Given the description of an element on the screen output the (x, y) to click on. 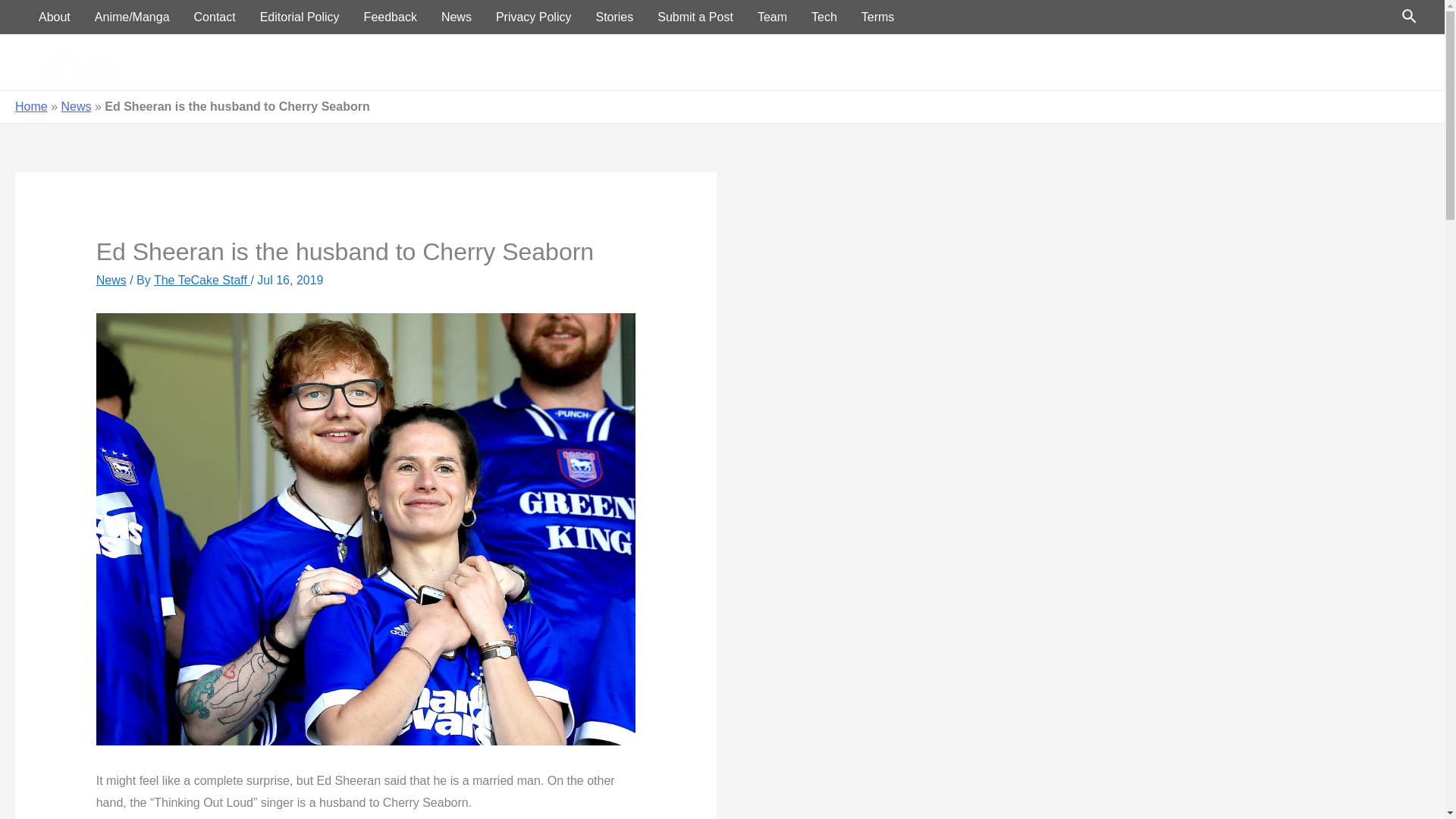
Terms (877, 17)
News (456, 17)
Stories (614, 17)
Tech (1267, 62)
Editorial Policy (299, 17)
Tech (823, 17)
View all posts by The TeCake Staff (202, 279)
Privacy Policy (533, 17)
Contact (214, 17)
Submit a Post (695, 17)
News (1215, 62)
Feedback (390, 17)
News (111, 279)
Stories (1386, 62)
Home (1060, 62)
